Given the description of an element on the screen output the (x, y) to click on. 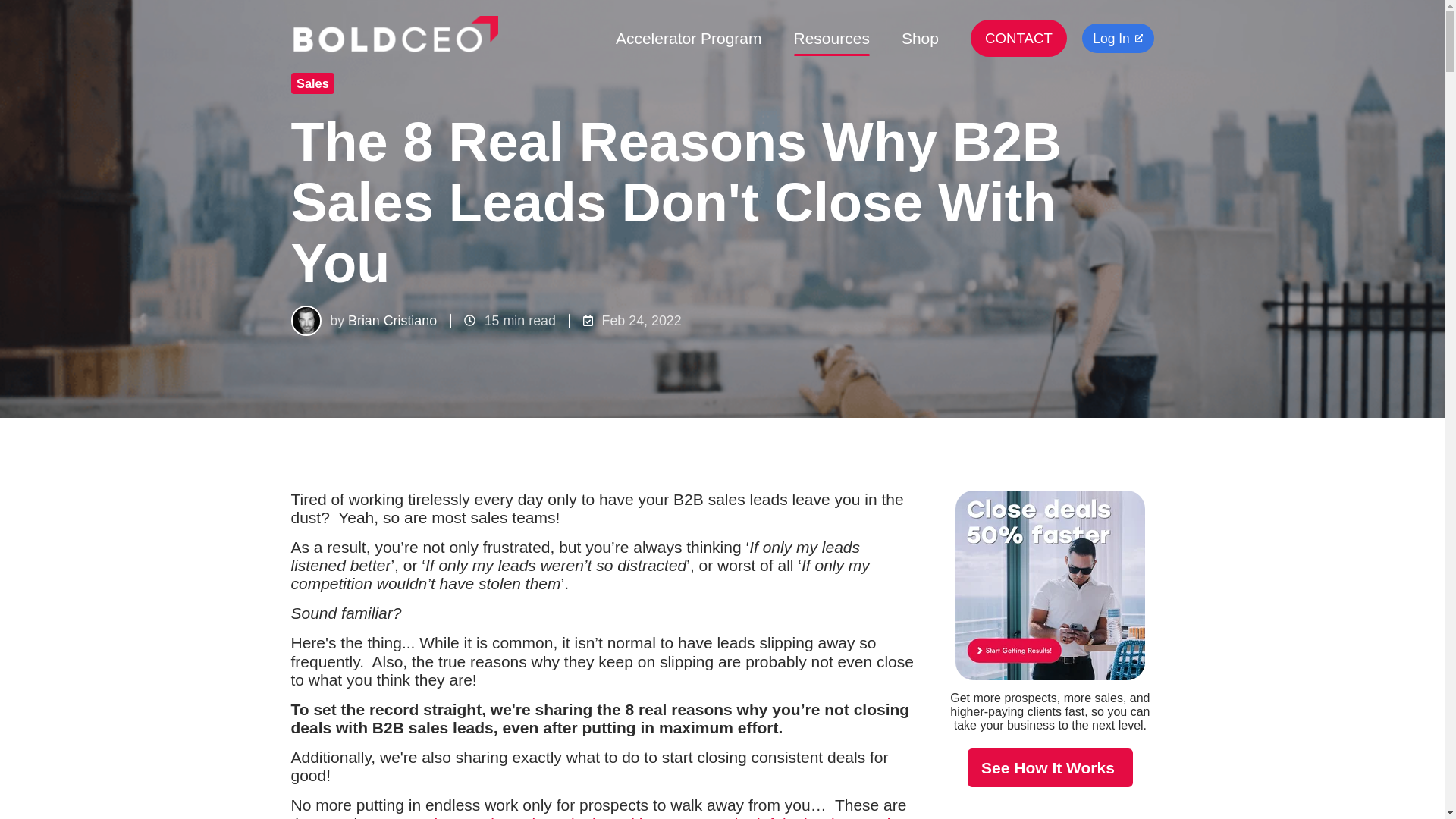
bold-ceo-logo-small-light (394, 37)
Log In (1117, 38)
Shop (920, 38)
Brian Cristiano (391, 320)
Resources (831, 38)
CONTACT (1019, 37)
Sales (312, 83)
See How It Works  (1050, 767)
Accelerator Program (688, 38)
